Given the description of an element on the screen output the (x, y) to click on. 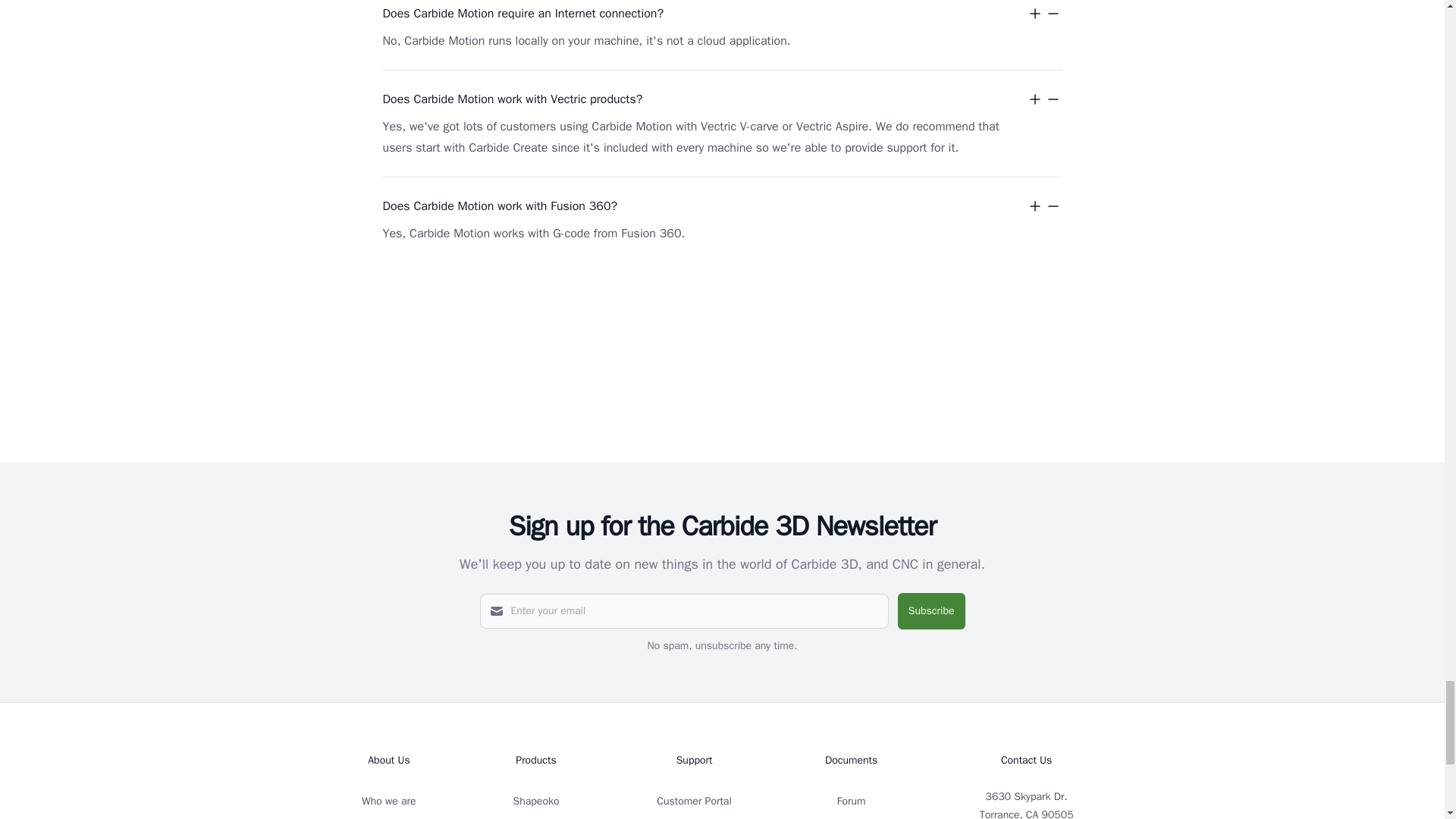
Does Carbide Motion require an Internet connection? (721, 13)
Does Carbide Motion work with Fusion 360? (721, 206)
Customer Portal (693, 800)
Does Carbide Motion work with Vectric products? (721, 98)
Subscribe (931, 610)
Subscribe (931, 610)
Who we are (387, 800)
Shapeoko (536, 800)
